Given the description of an element on the screen output the (x, y) to click on. 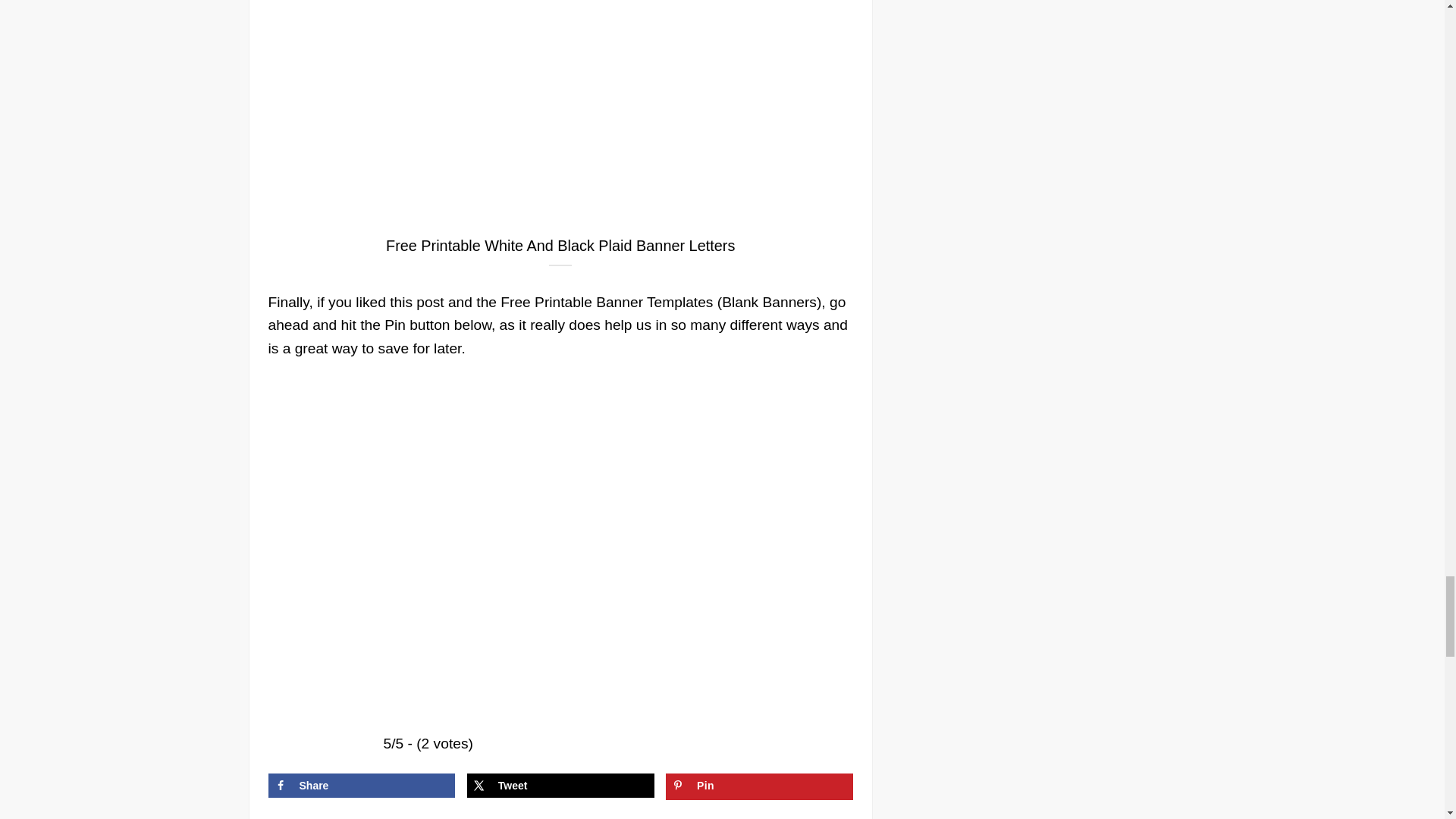
Share on Facebook (361, 785)
Share on X (560, 785)
Save to Pinterest (759, 786)
